Given the description of an element on the screen output the (x, y) to click on. 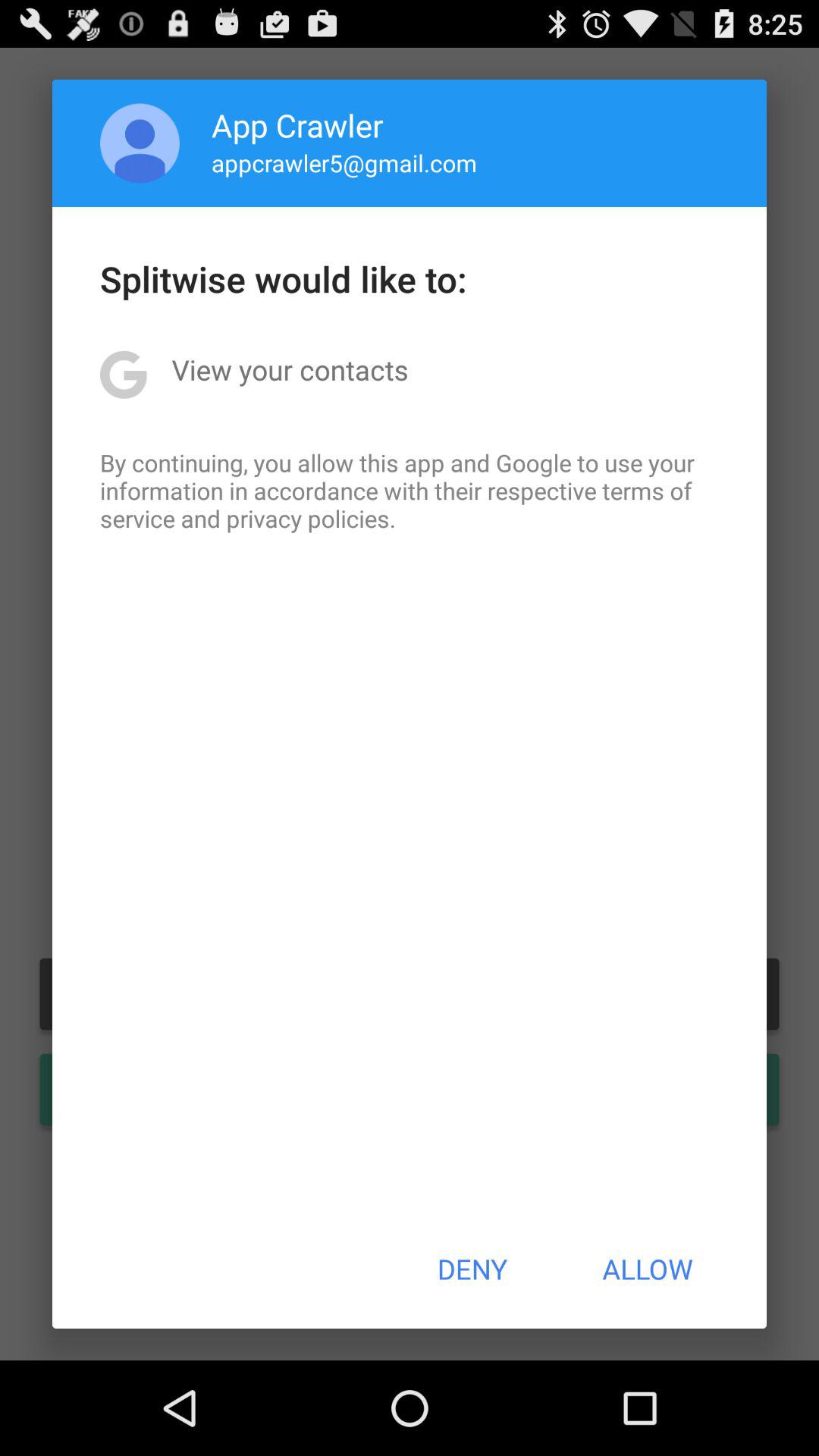
open icon above the splitwise would like item (139, 143)
